Given the description of an element on the screen output the (x, y) to click on. 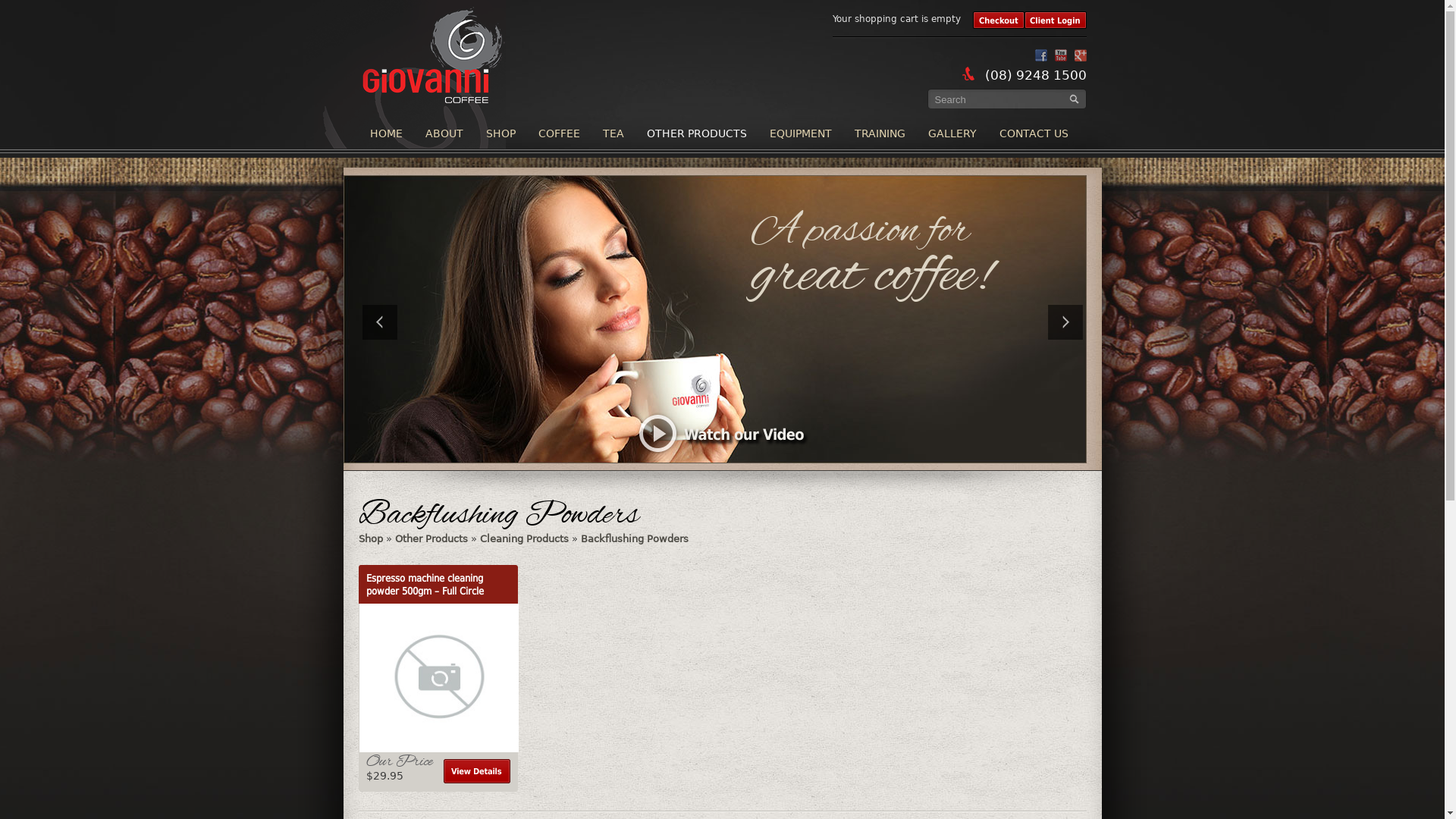
Watch our Video Element type: hover (721, 433)
TRAINING Element type: text (879, 133)
ABOUT Element type: text (444, 133)
CONTACT US Element type: text (1033, 133)
HOME Element type: text (385, 133)
order now Element type: text (29, 9)
Shop Element type: text (369, 538)
EQUIPMENT Element type: text (800, 133)
Search Element type: text (1074, 98)
Cleaning Products Element type: text (523, 538)
Giovanni Coffee Element type: hover (404, 141)
OTHER PRODUCTS Element type: text (696, 133)
SHOP Element type: text (500, 133)
TEA Element type: text (613, 133)
Backflushing Powders Element type: text (634, 538)
GALLERY Element type: text (951, 133)
Other Products Element type: text (430, 538)
COFFEE Element type: text (558, 133)
(08) 9248 1500 Element type: text (1034, 74)
